Given the description of an element on the screen output the (x, y) to click on. 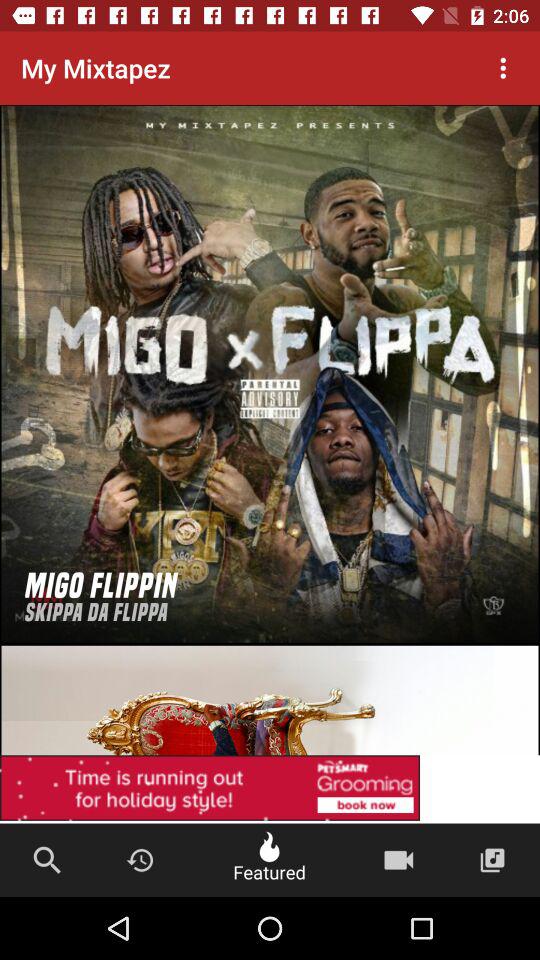
turn off icon at the top right corner (503, 67)
